Given the description of an element on the screen output the (x, y) to click on. 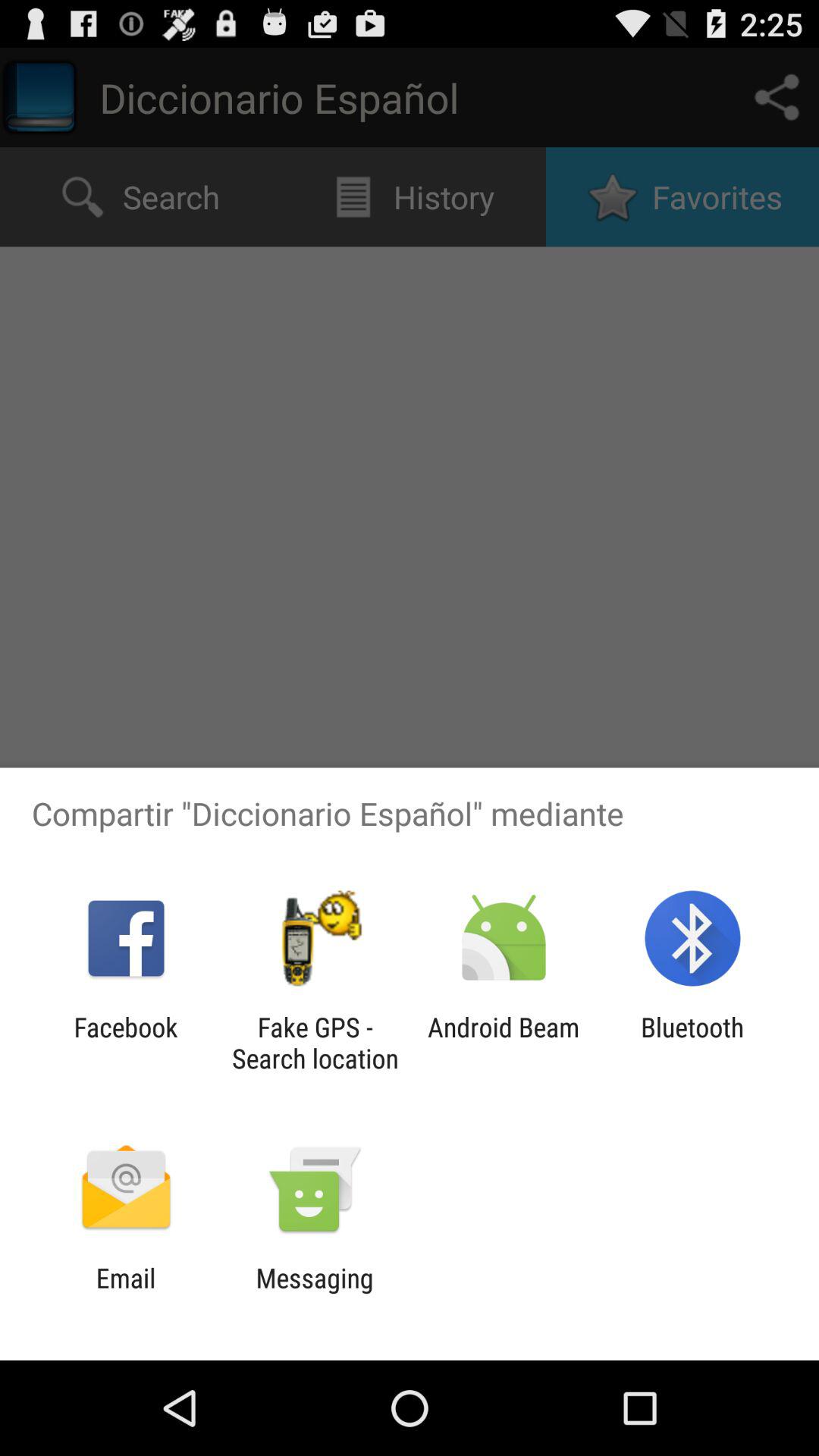
jump until the facebook icon (125, 1042)
